Given the description of an element on the screen output the (x, y) to click on. 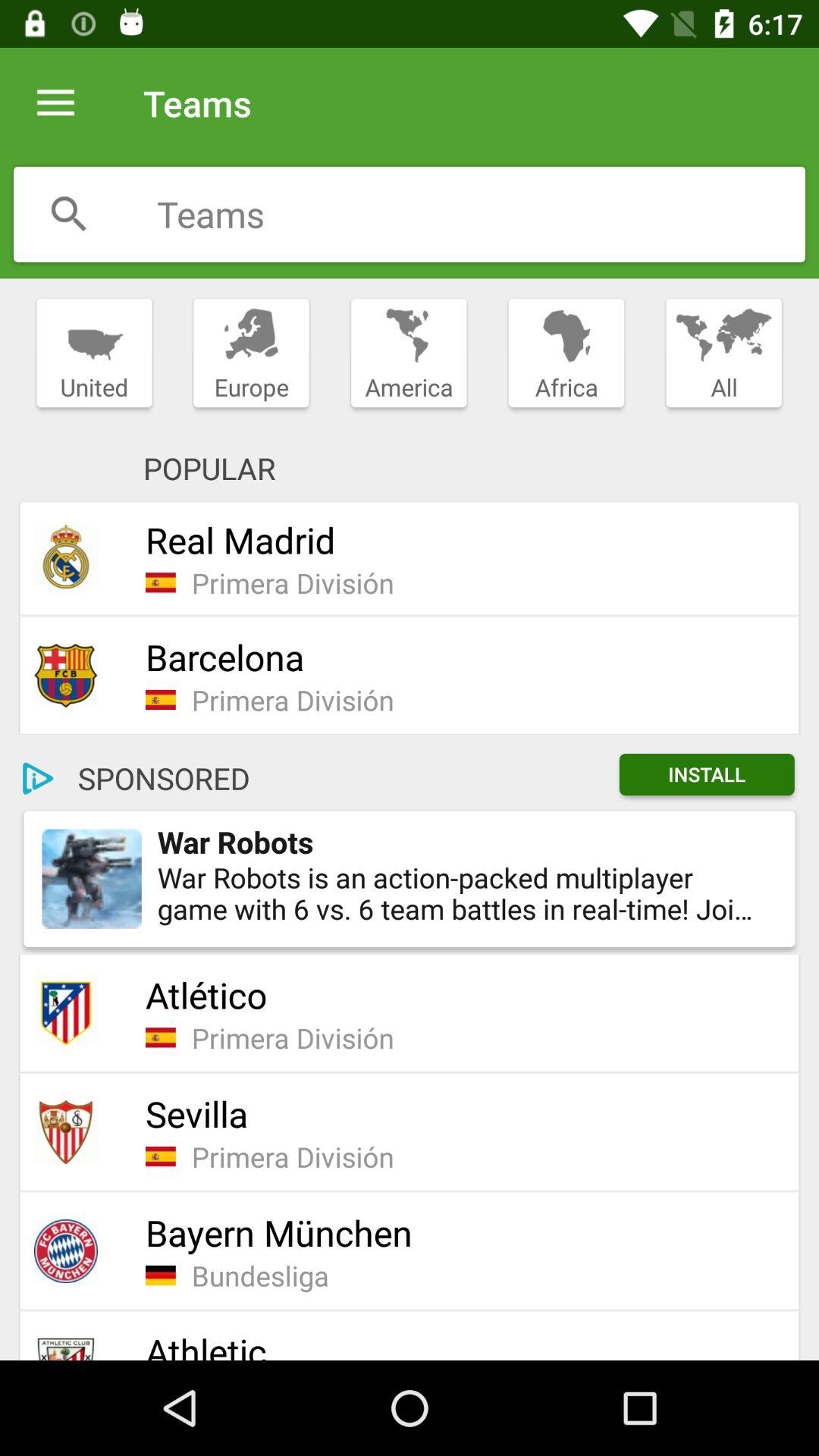
search text box (480, 214)
